Given the description of an element on the screen output the (x, y) to click on. 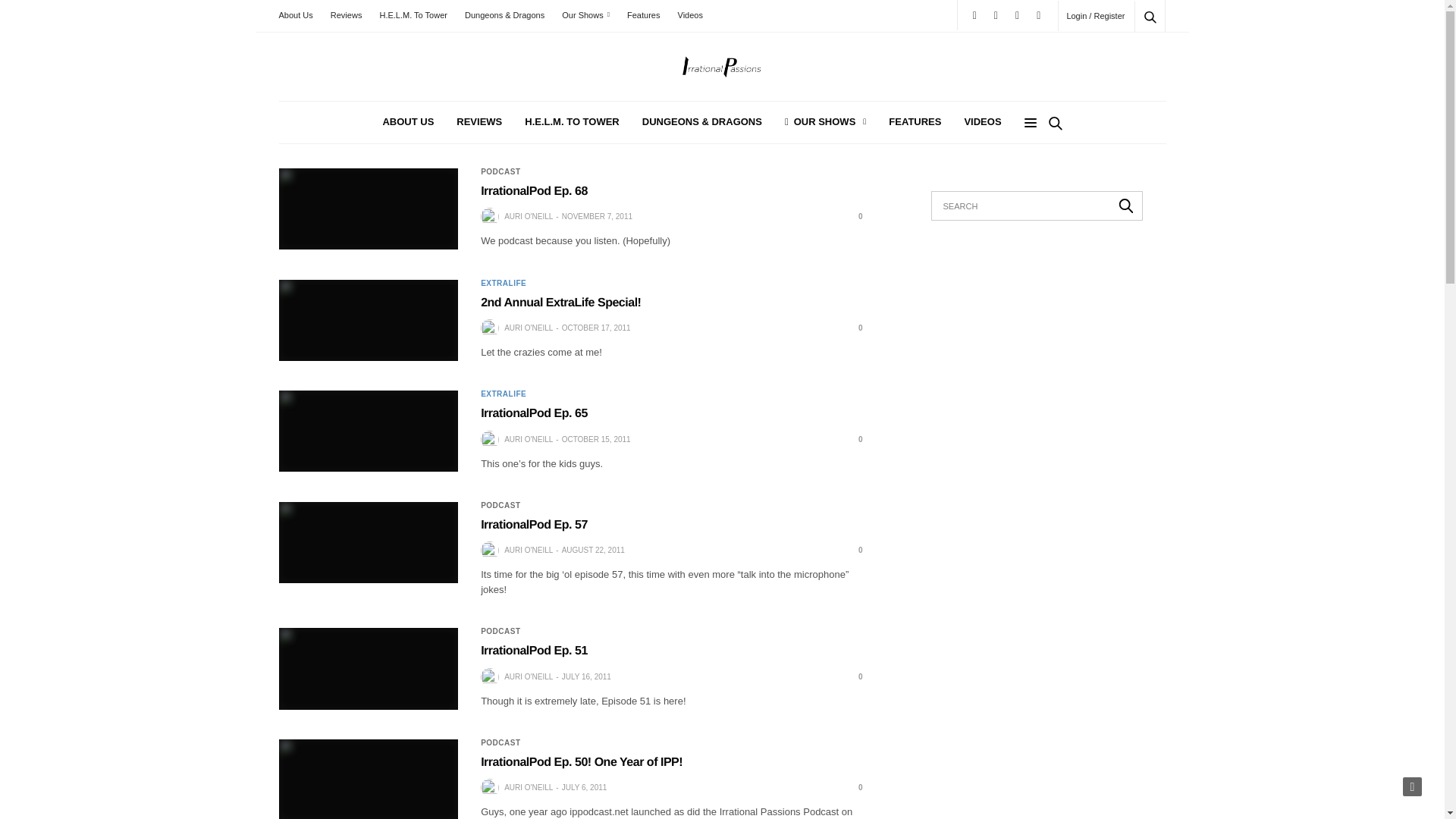
IrrationalPod Ep. 65 (368, 430)
Podcast (499, 172)
2nd Annual ExtraLife Special! (560, 302)
IrrationalPod Ep. 68 (853, 216)
Our Shows (585, 15)
Search (1129, 53)
Posts by Auri O'Neill (528, 216)
Posts by Auri O'Neill (528, 439)
2nd Annual ExtraLife Special! (368, 320)
2nd Annual ExtraLife Special! (853, 327)
